Given the description of an element on the screen output the (x, y) to click on. 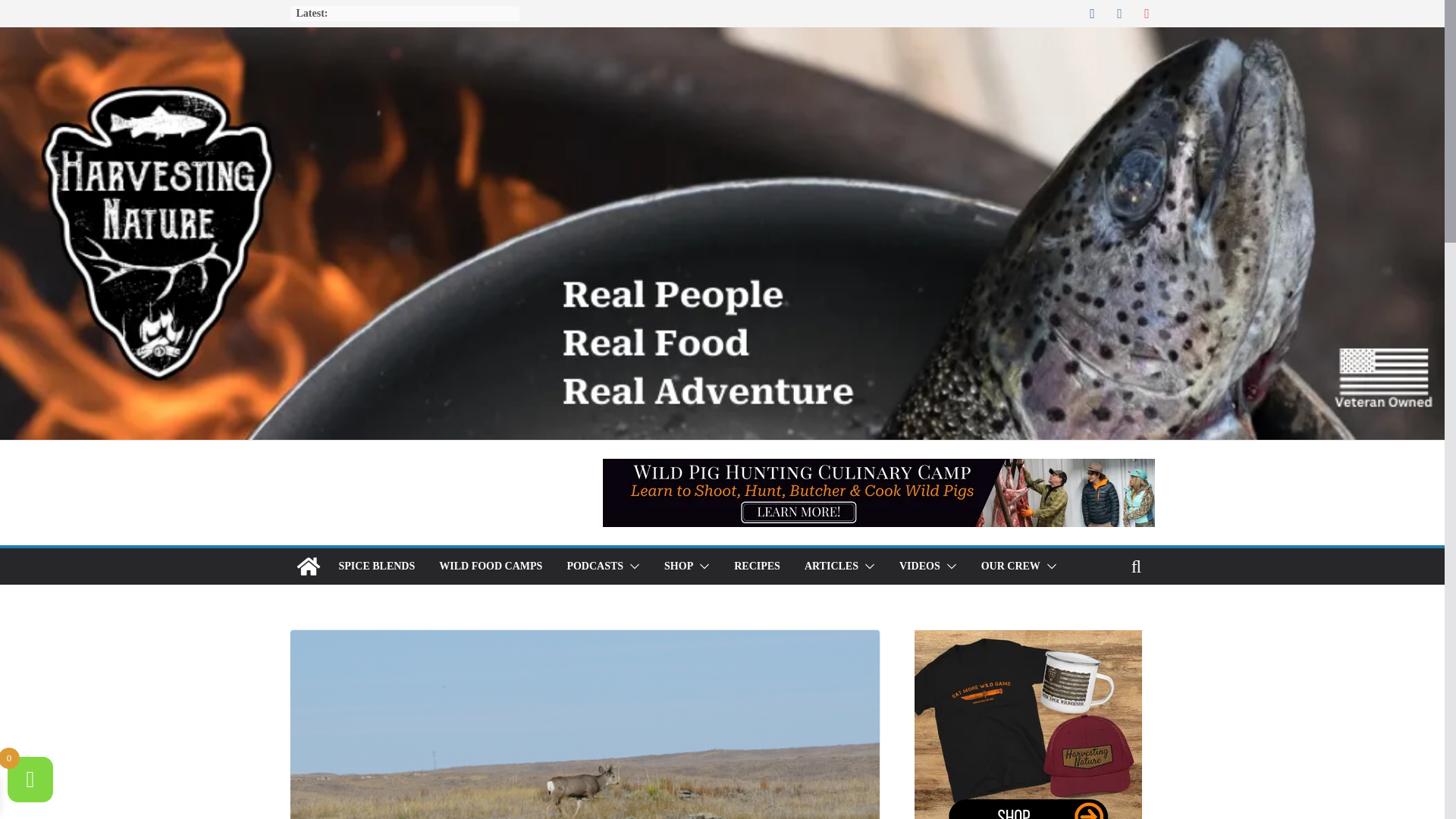
WILD FOOD CAMPS (490, 566)
ARTICLES (832, 566)
OUR CREW (1011, 566)
Harvesting Nature (307, 565)
RECIPES (756, 566)
PODCASTS (594, 566)
SHOP (678, 566)
VIDEOS (919, 566)
SPICE BLENDS (375, 566)
